Given the description of an element on the screen output the (x, y) to click on. 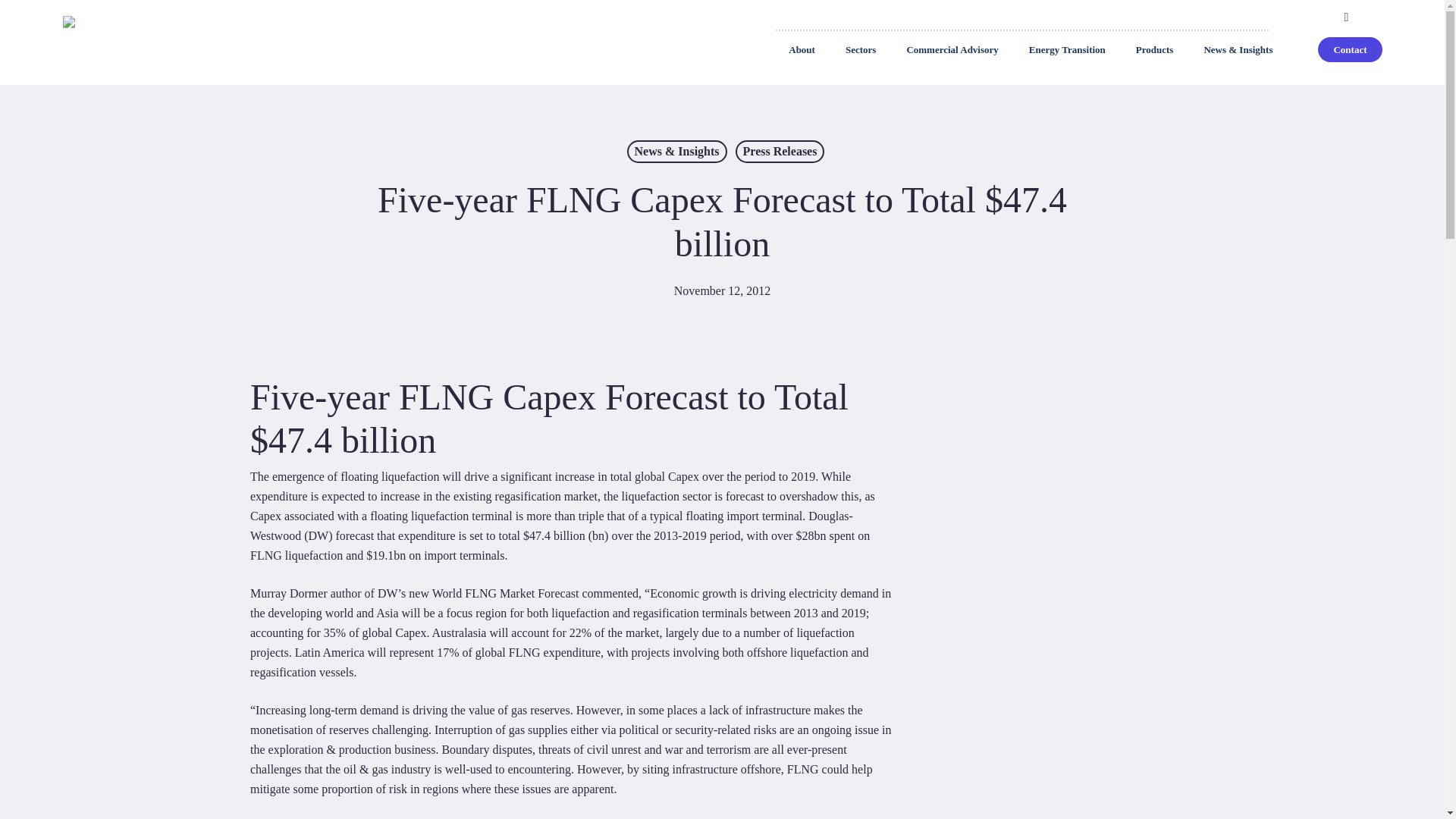
Energy Transition (1067, 49)
About (801, 49)
Products (1155, 49)
Commercial Advisory (952, 49)
Sectors (860, 49)
Login (1255, 15)
Careers (1181, 15)
